Given the description of an element on the screen output the (x, y) to click on. 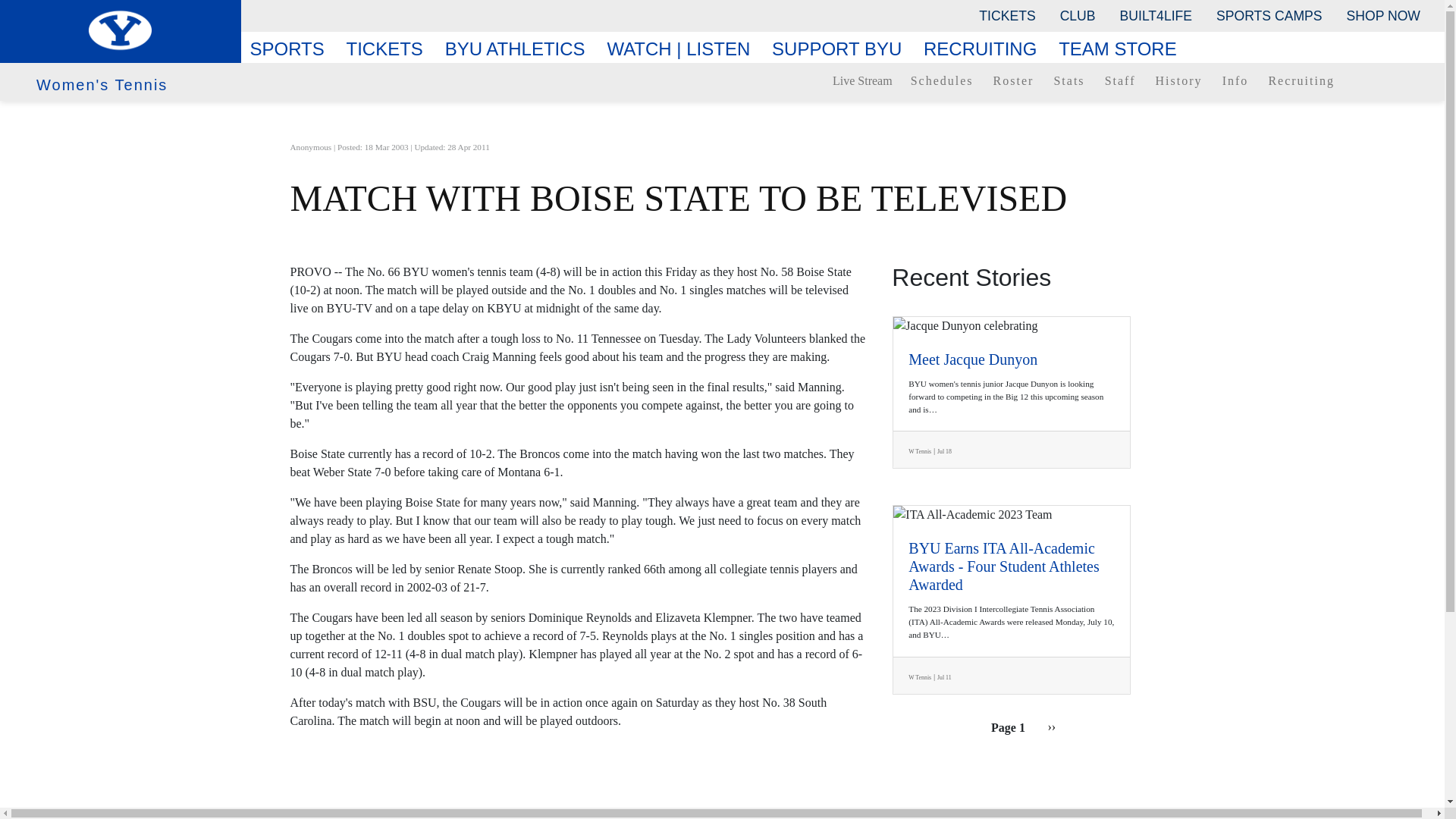
SHOP NOW (1383, 15)
SPORTS (292, 49)
BUILT4LIFE (1156, 15)
Go to next page (1051, 726)
TICKETS (1006, 15)
CLUB (1078, 15)
SPORTS CAMPS (1268, 15)
